Given the description of an element on the screen output the (x, y) to click on. 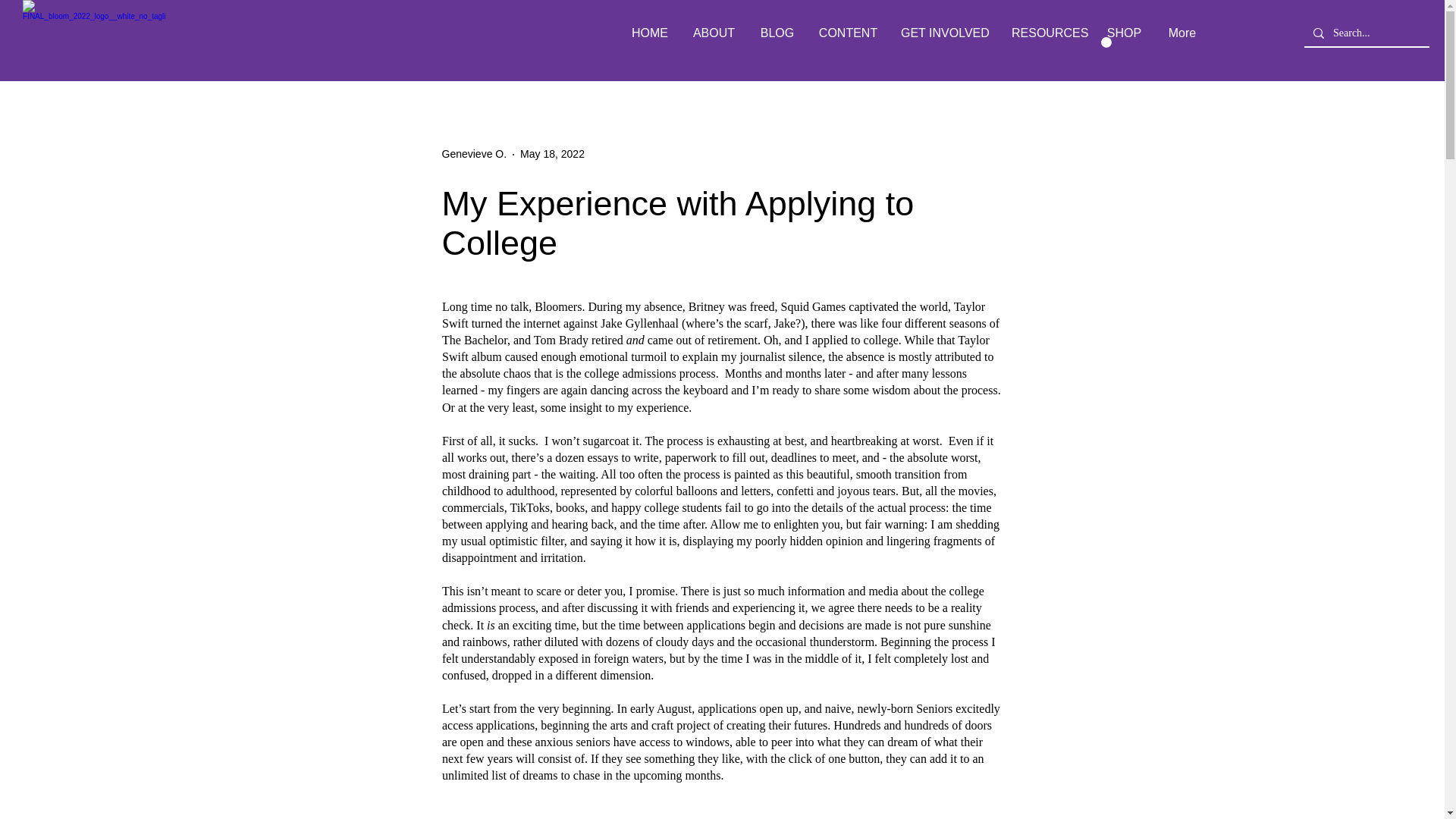
Genevieve O. (473, 154)
BLOG (777, 33)
ABOUT (713, 33)
May 18, 2022 (552, 153)
SHOP (1123, 33)
Genevieve O. (473, 154)
HOME (649, 33)
